Given the description of an element on the screen output the (x, y) to click on. 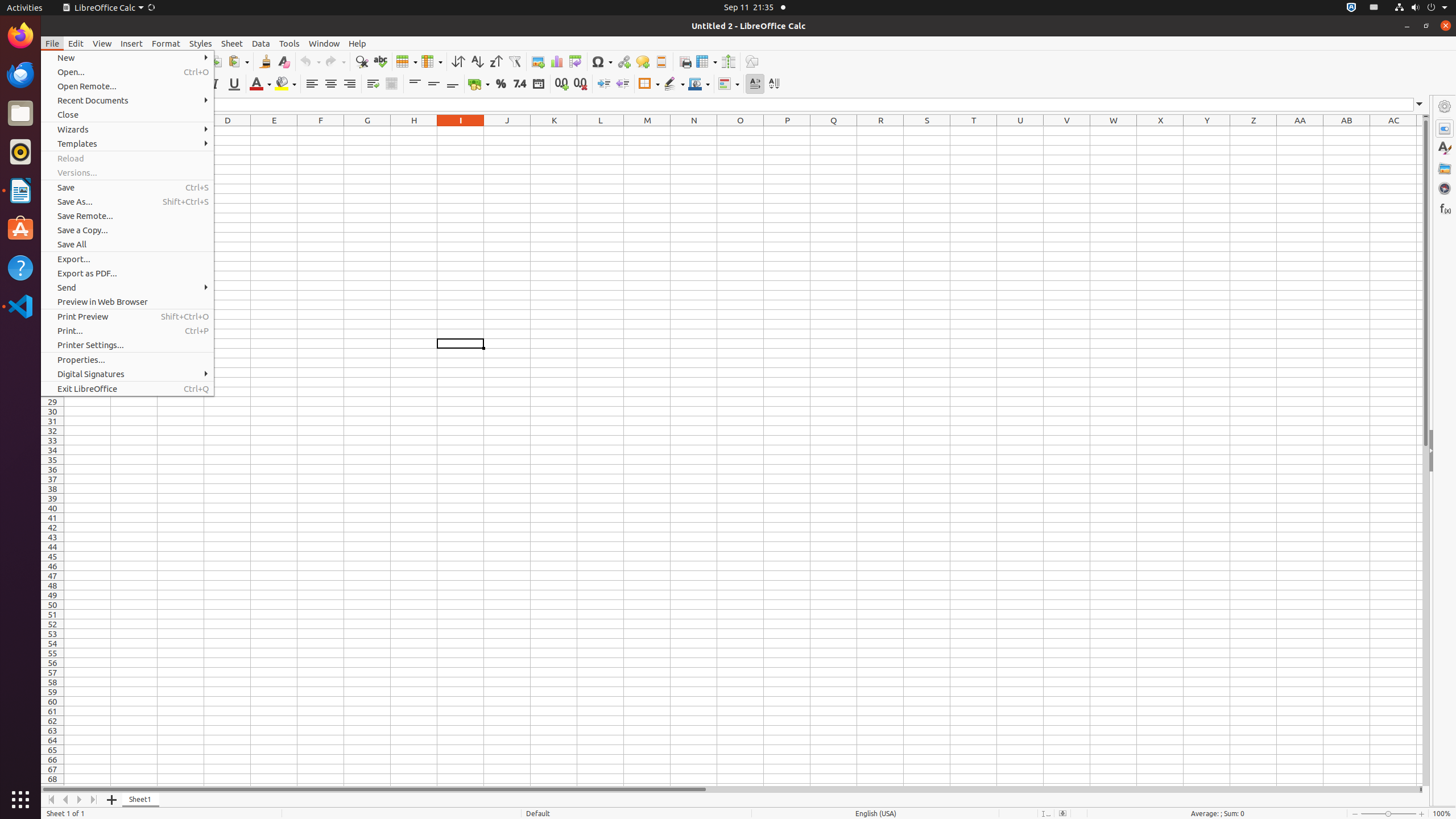
Move To End Element type: push-button (94, 799)
Move Right Element type: push-button (79, 799)
Currency Element type: push-button (478, 83)
Gallery Element type: radio-button (1444, 168)
Exit LibreOffice Element type: menu-item (126, 388)
